Given the description of an element on the screen output the (x, y) to click on. 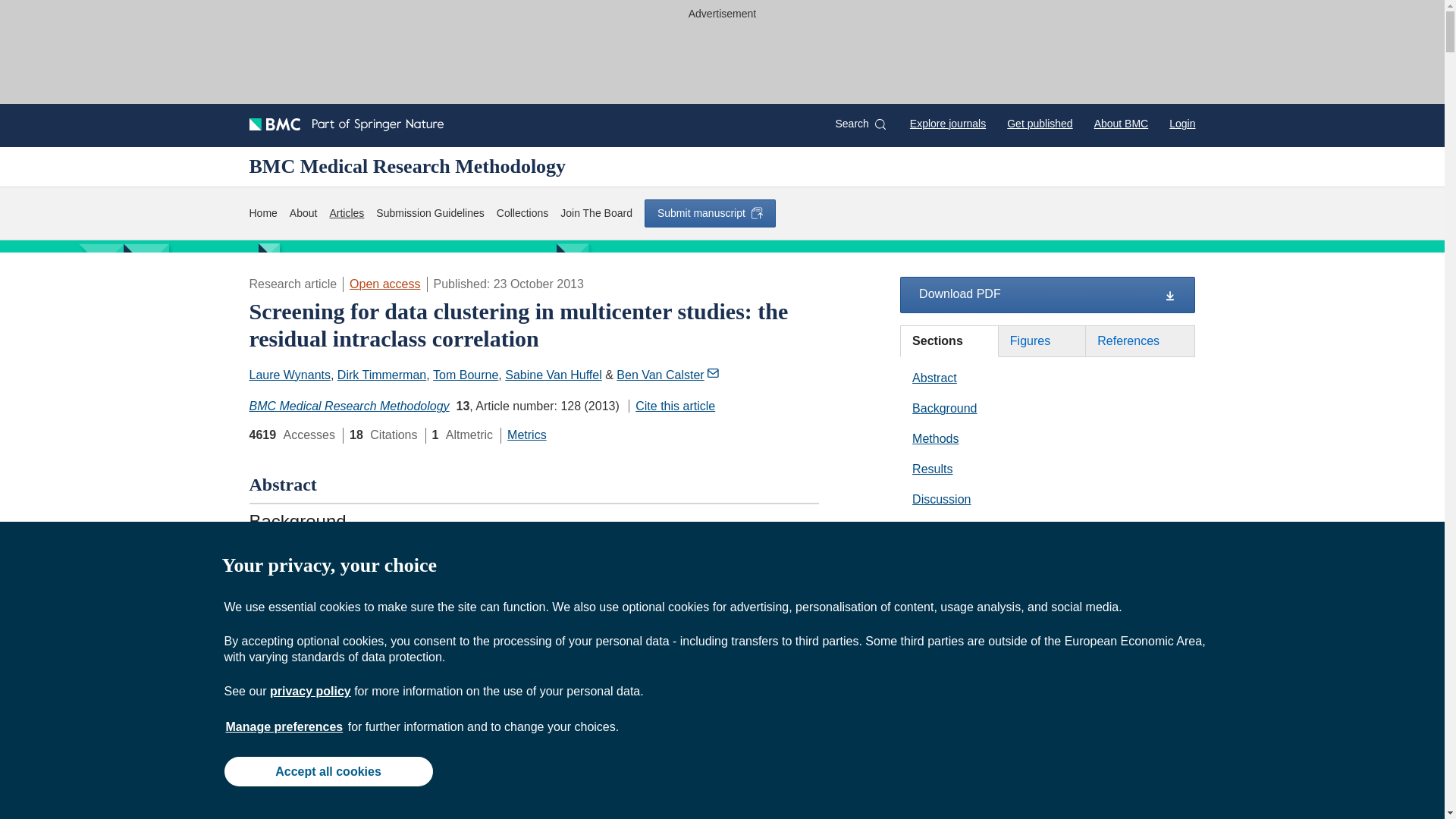
Login (1182, 123)
Submission Guidelines (429, 212)
Manage preferences (284, 726)
Join The Board (595, 212)
Submit manuscript (710, 212)
privacy policy (309, 690)
Open access (384, 283)
Search (859, 123)
About BMC (1121, 123)
Dirk Timmerman (381, 374)
